Given the description of an element on the screen output the (x, y) to click on. 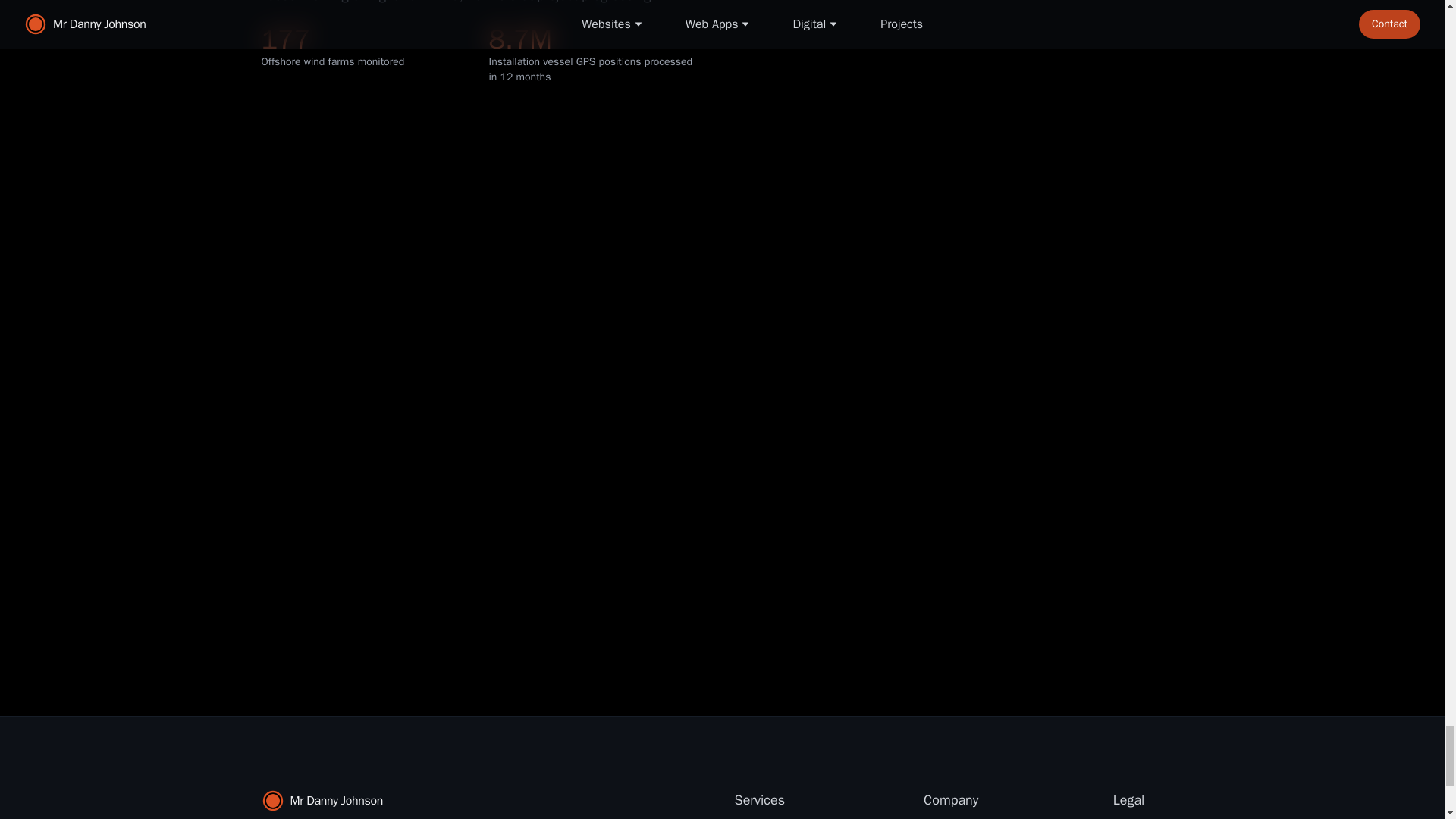
Mr Danny Johnson (405, 800)
